Given the description of an element on the screen output the (x, y) to click on. 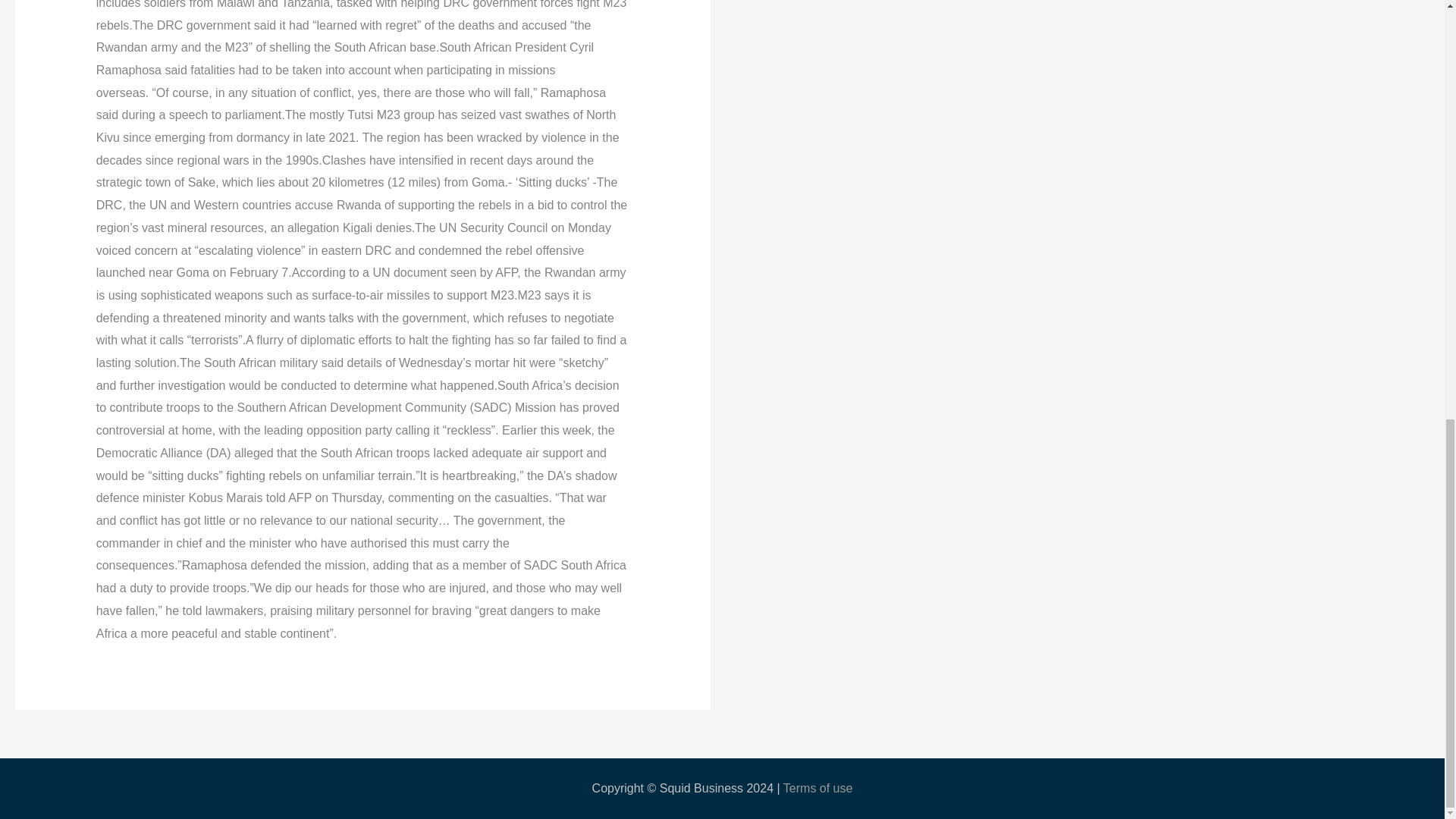
Terms of use (818, 788)
